Given the description of an element on the screen output the (x, y) to click on. 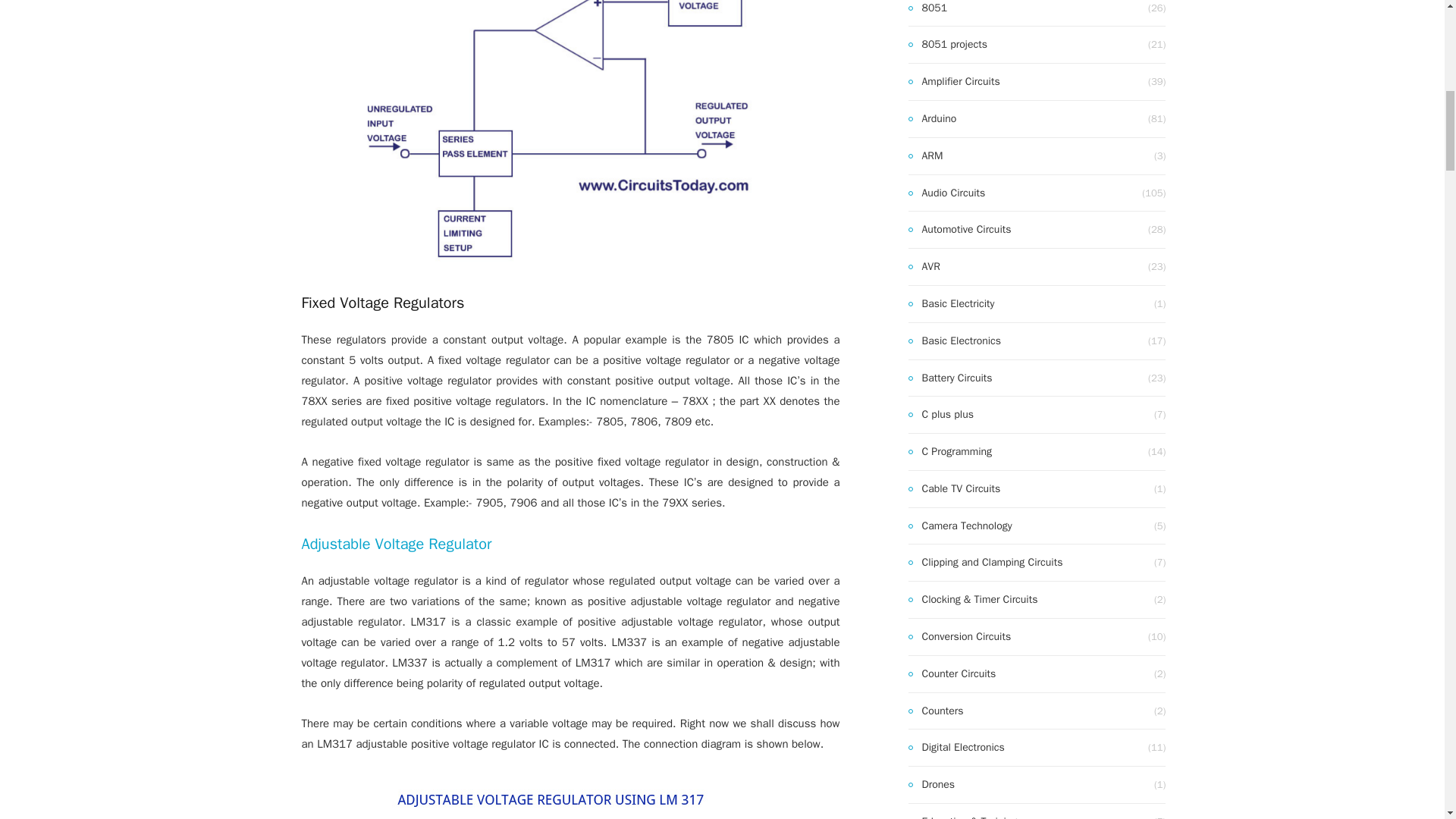
Adjustable Voltage Regulator using LM317 (570, 798)
8051 Microcontroller projects (947, 45)
Adjustable Voltage Regulator (396, 543)
